Given the description of an element on the screen output the (x, y) to click on. 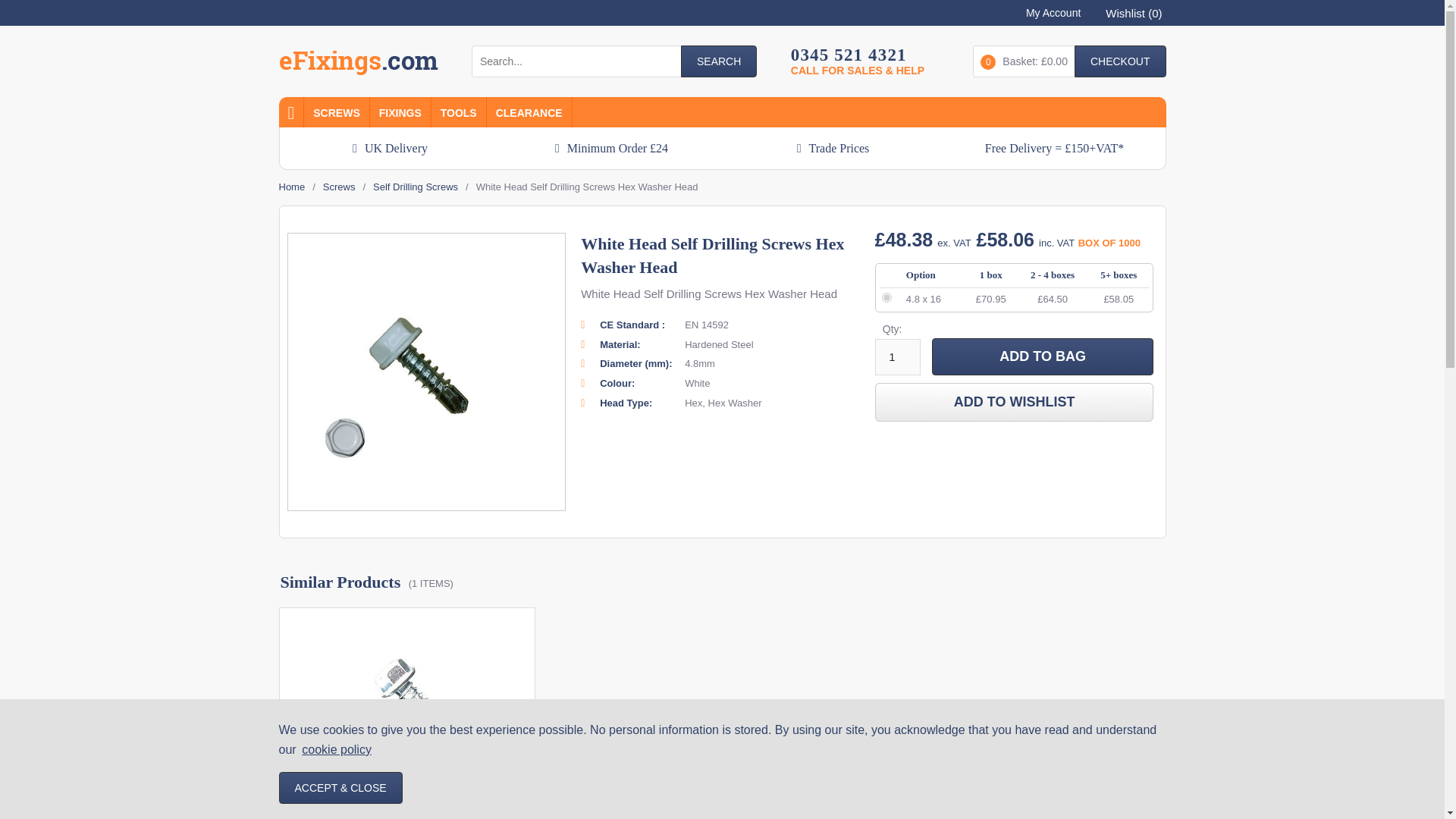
Go to homepage (358, 63)
cookie policy (336, 748)
Self Drilling Screws Hex Washer Head Zinc  (405, 717)
My Account (1048, 10)
EFixings (358, 63)
1 (897, 357)
SEARCH (719, 60)
0345 521 4321 (857, 54)
SCREWS (336, 112)
on (886, 297)
CHECKOUT (1120, 60)
